Given the description of an element on the screen output the (x, y) to click on. 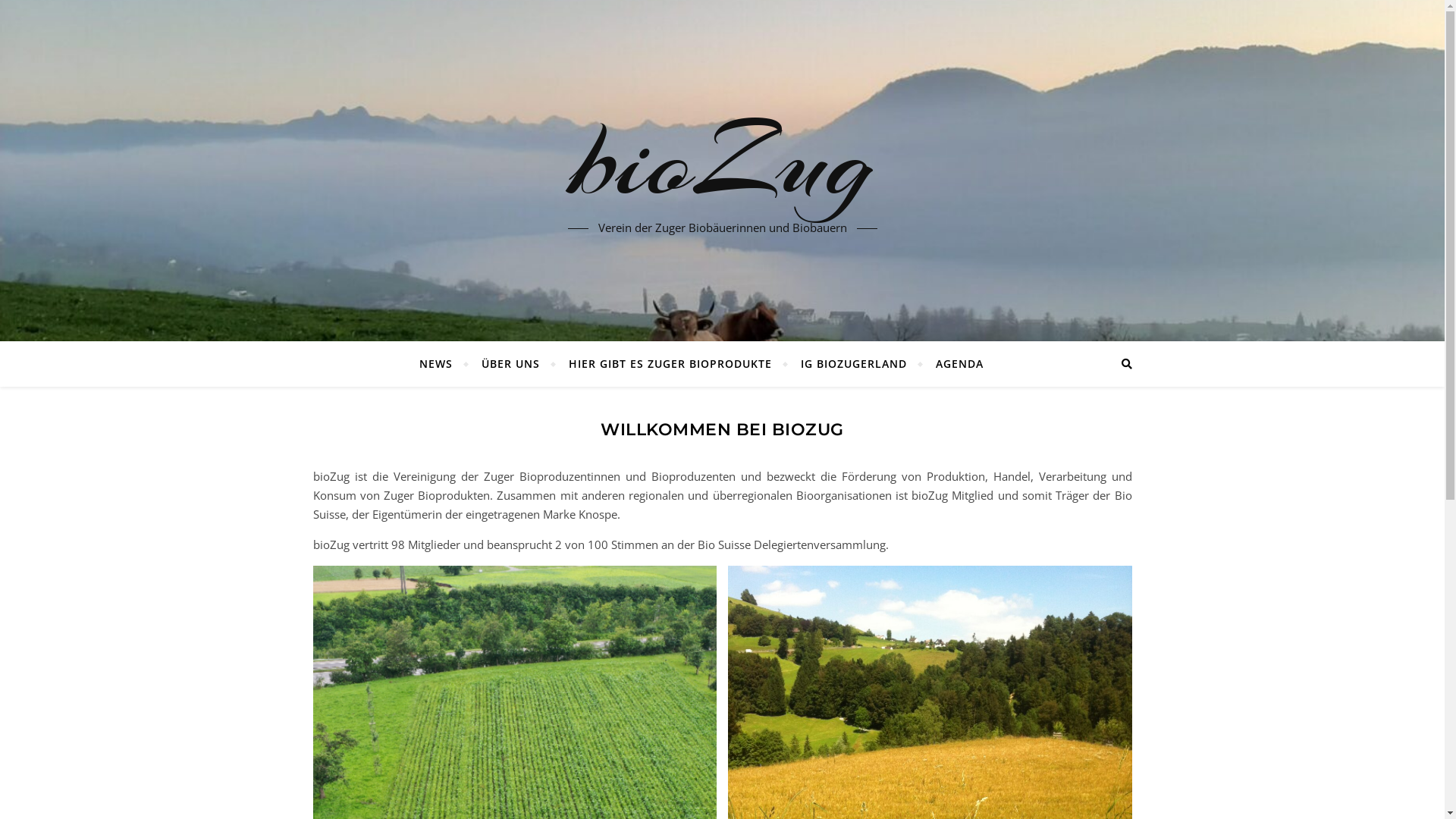
HIER GIBT ES ZUGER BIOPRODUKTE Element type: text (669, 363)
IG BIOZUGERLAND Element type: text (853, 363)
bioZug Element type: text (722, 161)
NEWS Element type: text (442, 363)
AGENDA Element type: text (952, 363)
